Given the description of an element on the screen output the (x, y) to click on. 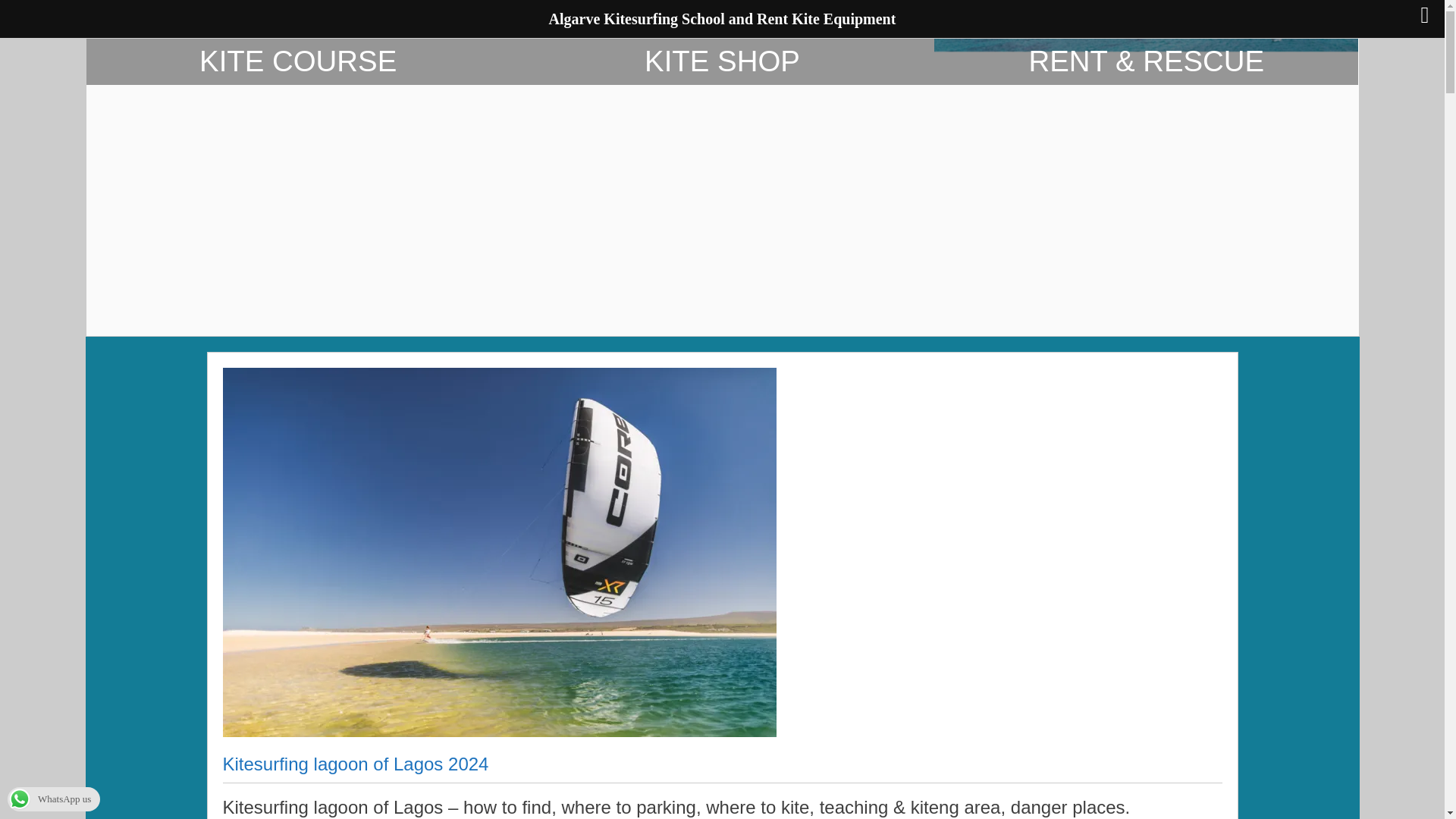
KITE SHOP (722, 186)
KITE COURSE (298, 186)
Kitesurfing lagoon of Lagos 2024 (355, 767)
